Given the description of an element on the screen output the (x, y) to click on. 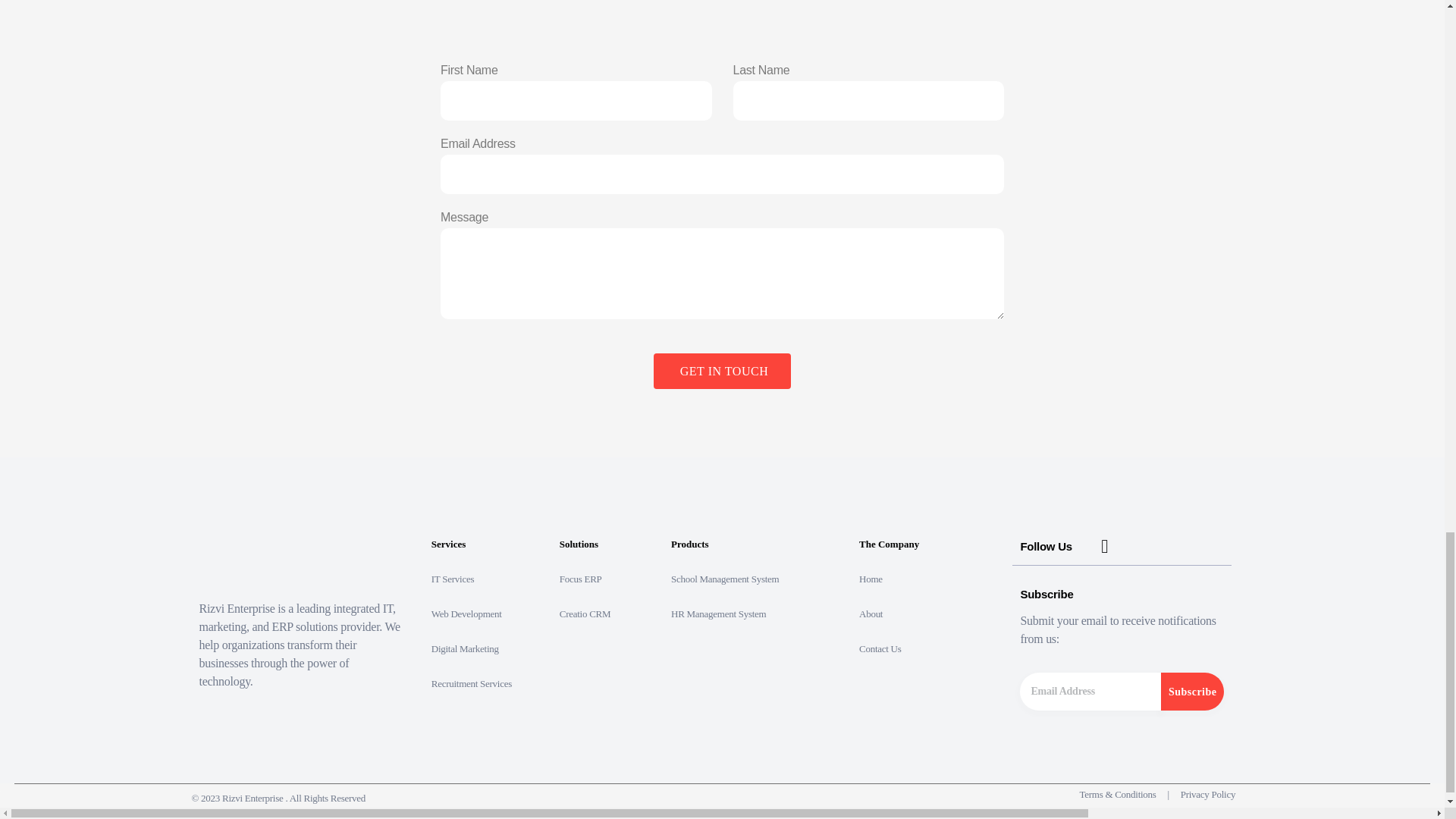
Subscribe (1192, 691)
